Given the description of an element on the screen output the (x, y) to click on. 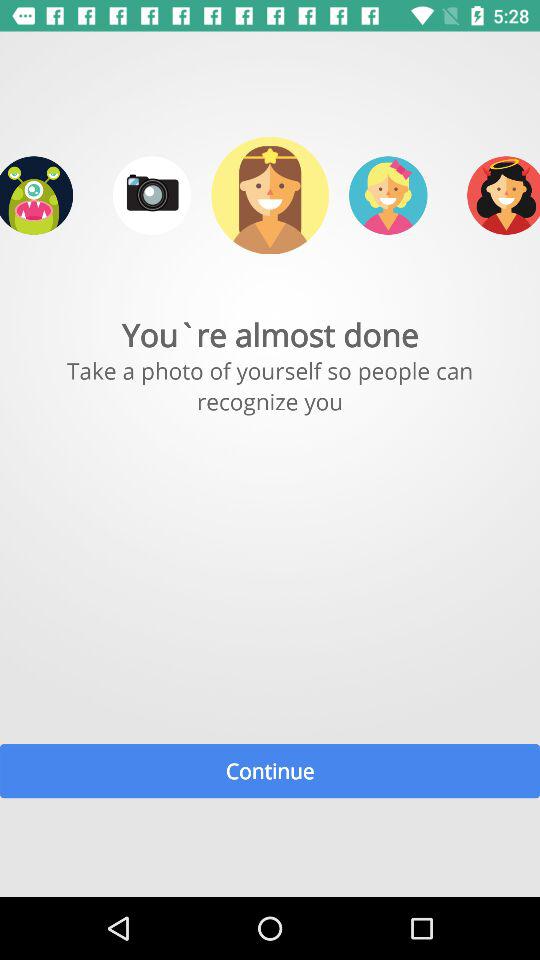
flip until continue icon (270, 770)
